Given the description of an element on the screen output the (x, y) to click on. 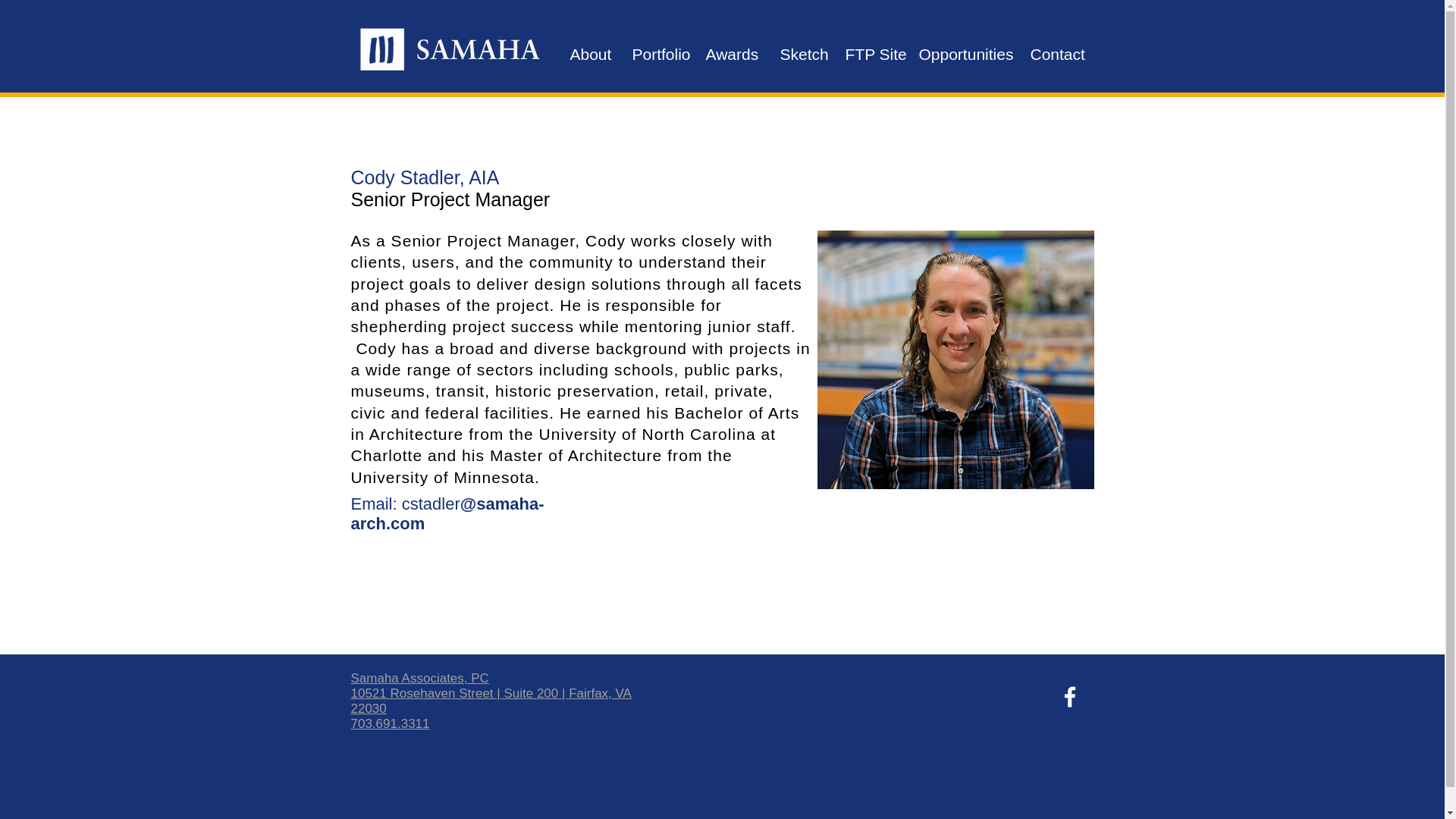
Sketch (801, 54)
Email: (373, 503)
Contact (1056, 54)
FTP Site (870, 54)
Opportunities (962, 54)
Portfolio (657, 54)
Awards (731, 54)
Samaha Associates, PC (418, 677)
About (588, 54)
703.691.3311 (389, 723)
